Given the description of an element on the screen output the (x, y) to click on. 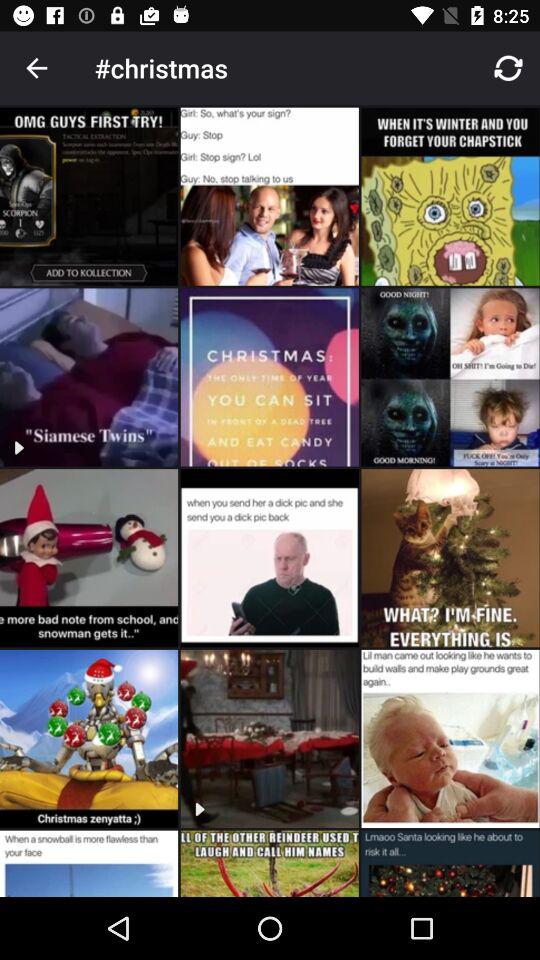
turn on the item to the left of the #christmas item (36, 68)
